Given the description of an element on the screen output the (x, y) to click on. 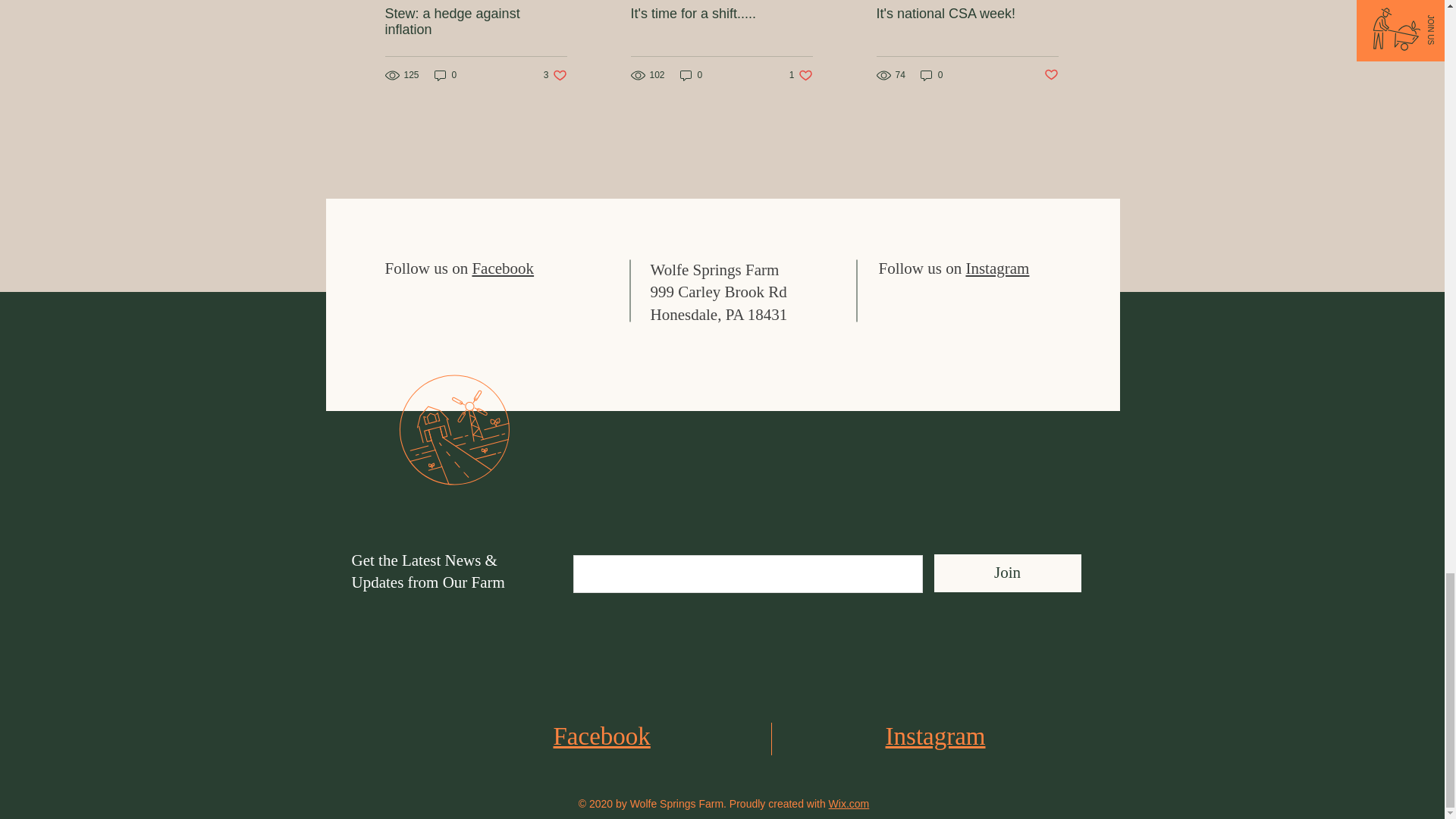
Stew: a hedge against inflation (476, 21)
It's time for a shift..... (721, 13)
0 (555, 74)
It's national CSA week! (800, 74)
0 (445, 74)
